Given the description of an element on the screen output the (x, y) to click on. 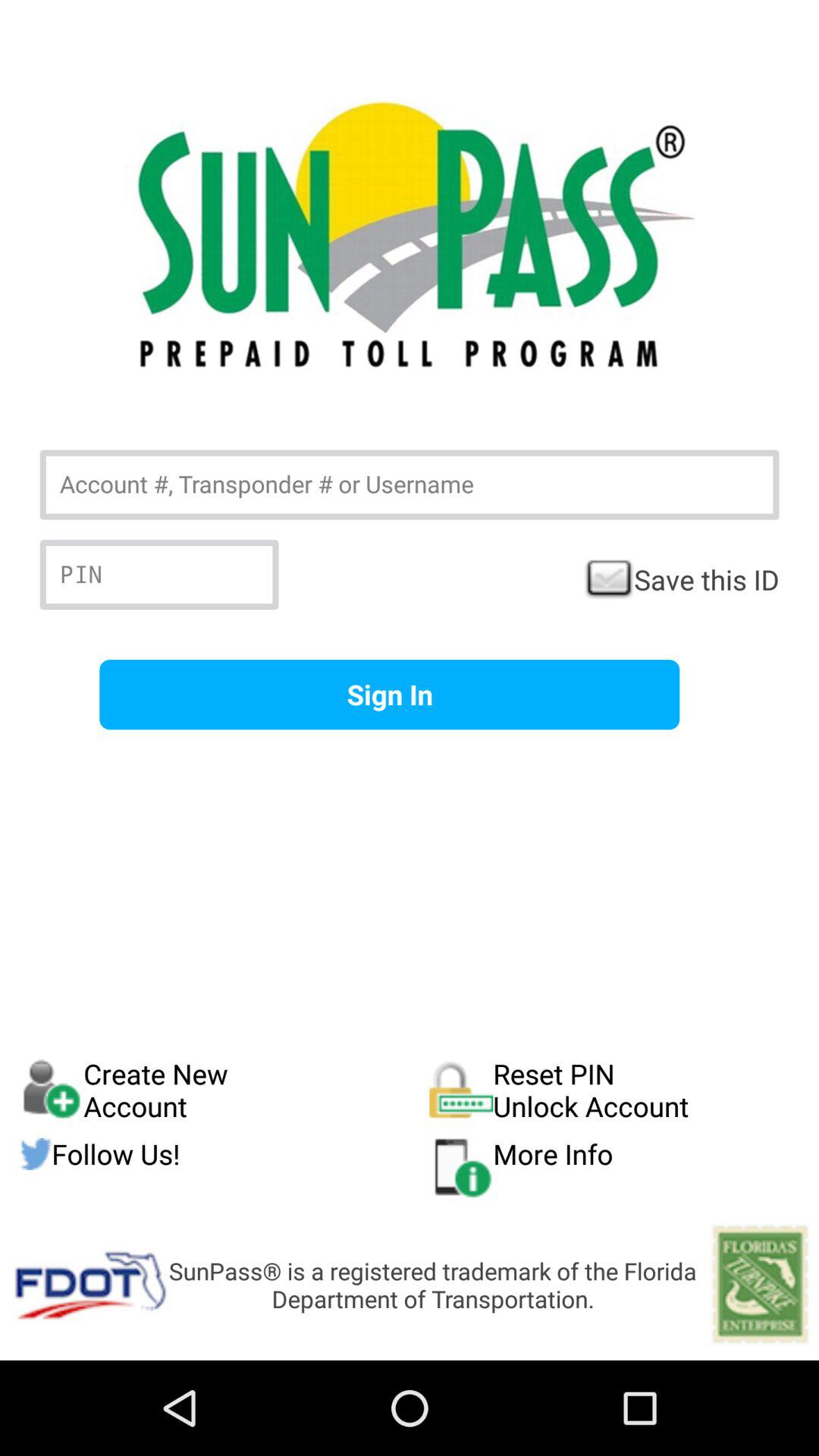
click item above create new
account icon (389, 694)
